Given the description of an element on the screen output the (x, y) to click on. 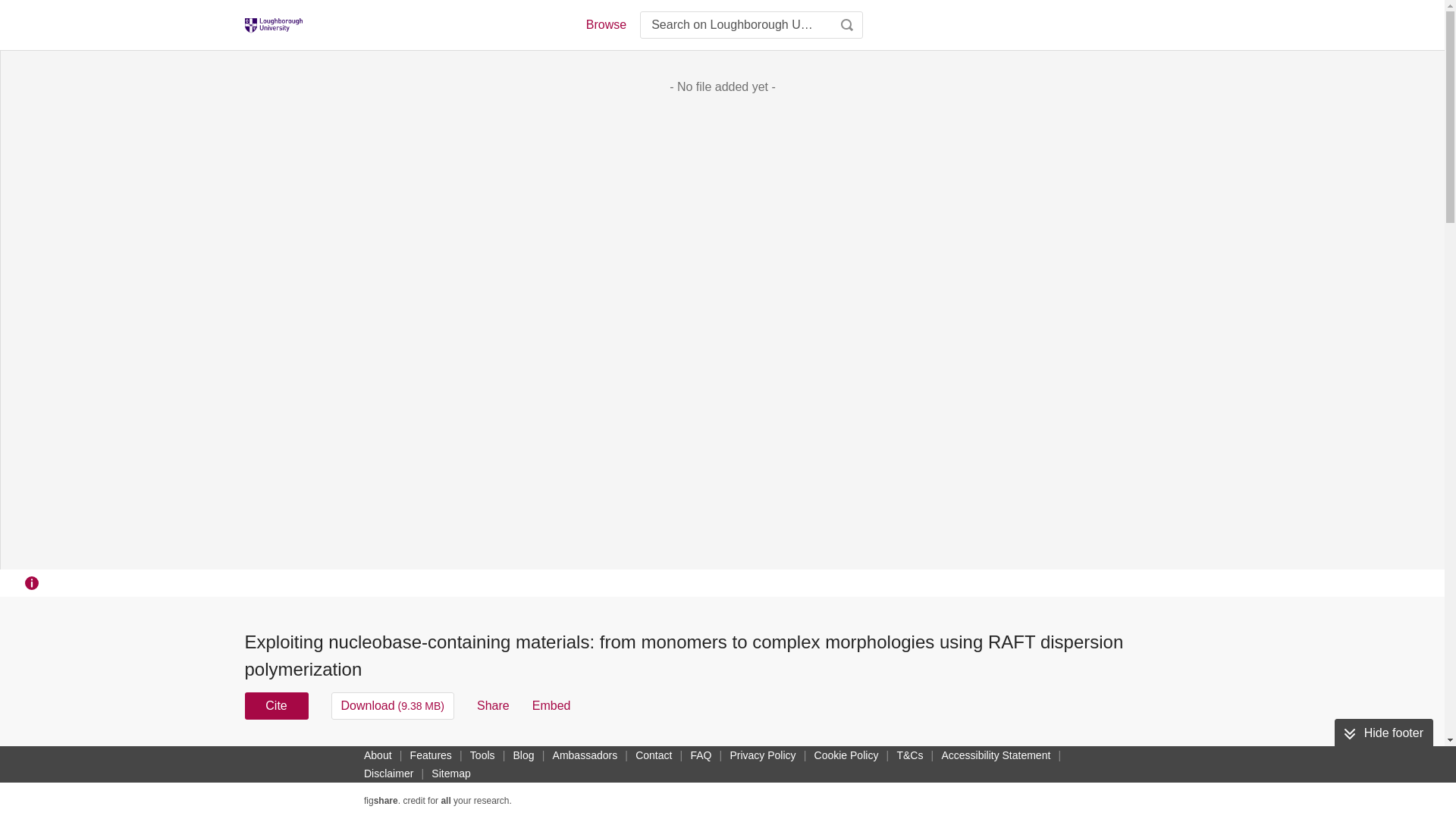
Cookie Policy (846, 755)
About (377, 755)
USAGE METRICS (976, 759)
FAQ (700, 755)
Share (493, 705)
Browse (605, 24)
Privacy Policy (762, 755)
Embed (551, 705)
Helen Willcock (779, 755)
Contact (653, 755)
